Given the description of an element on the screen output the (x, y) to click on. 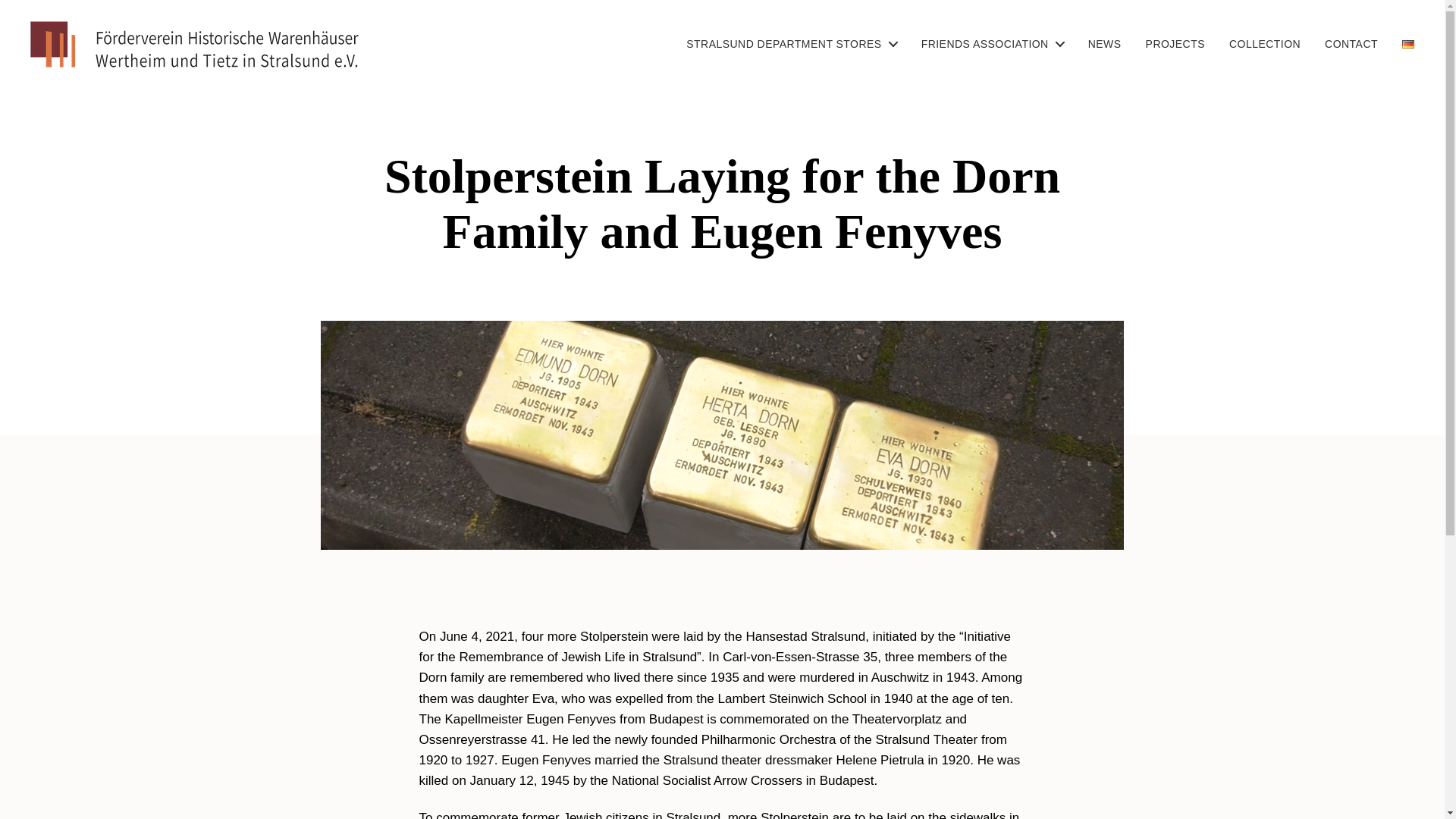
CONTACT (1350, 43)
STRALSUND DEPARTMENT STORES (790, 43)
PROJECTS (1175, 43)
FRIENDS ASSOCIATION (992, 43)
COLLECTION (1264, 43)
NEWS (1104, 43)
